Given the description of an element on the screen output the (x, y) to click on. 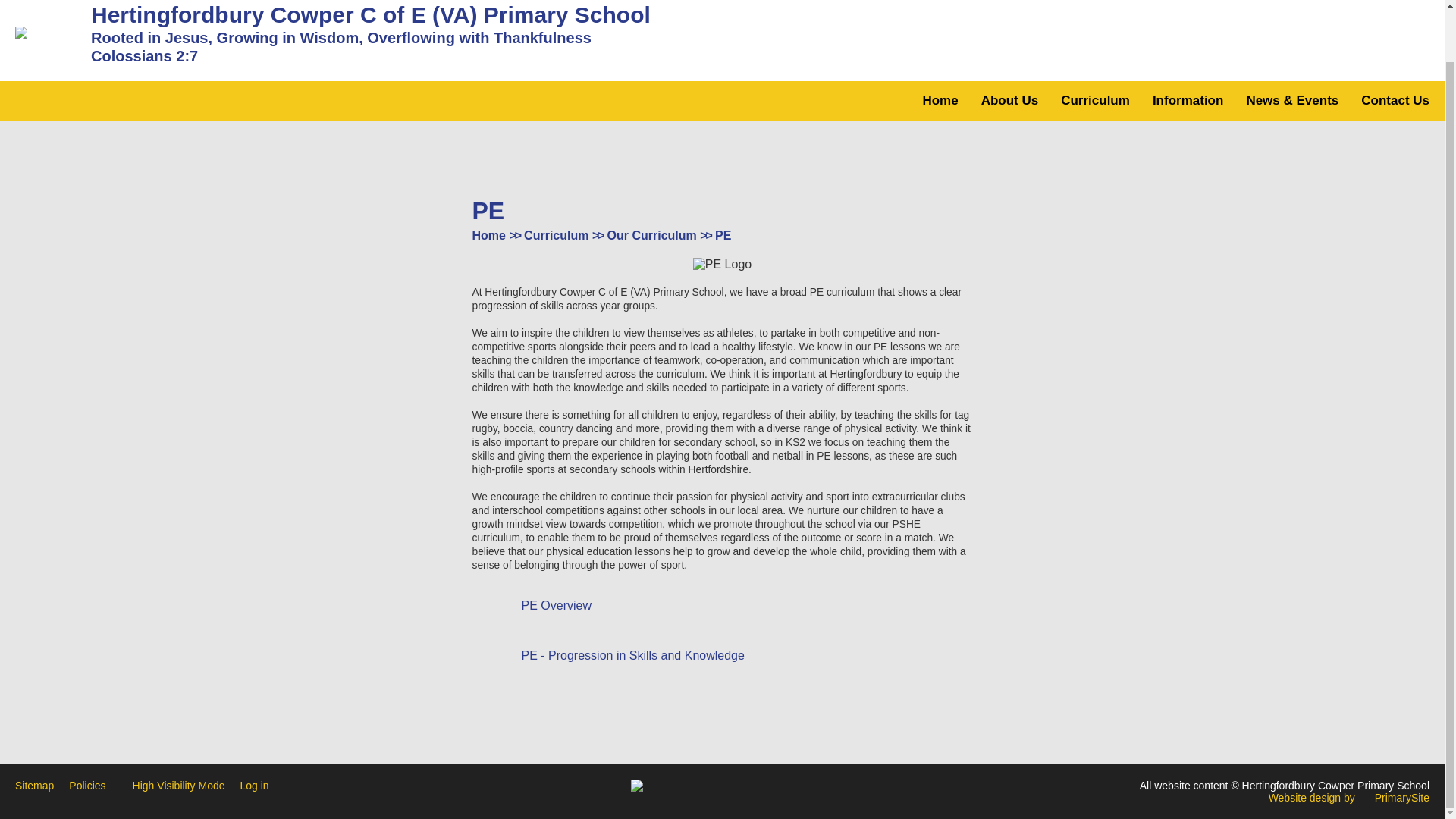
Curriculum (1095, 101)
About Us (1010, 101)
Home Page (44, 32)
